Given the description of an element on the screen output the (x, y) to click on. 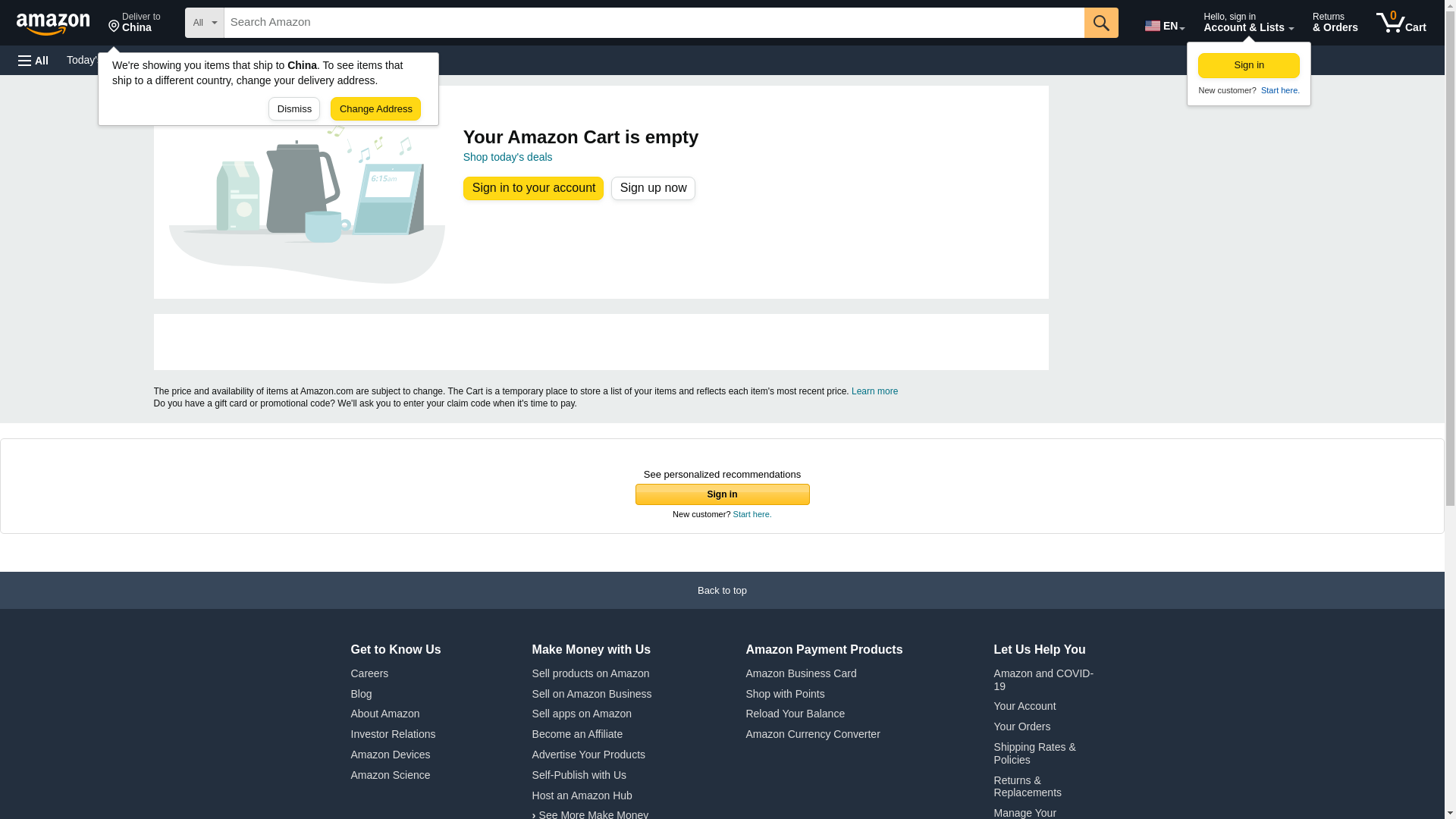
Go (1101, 22)
All (33, 60)
Shop today's deals (508, 156)
Go (1401, 22)
Start here. (1101, 22)
EN (1279, 90)
Sell (1163, 22)
Today's Deals (384, 59)
Registry (99, 59)
Skip to main content (272, 59)
Gift Cards (60, 21)
Sign up now (333, 59)
